Given the description of an element on the screen output the (x, y) to click on. 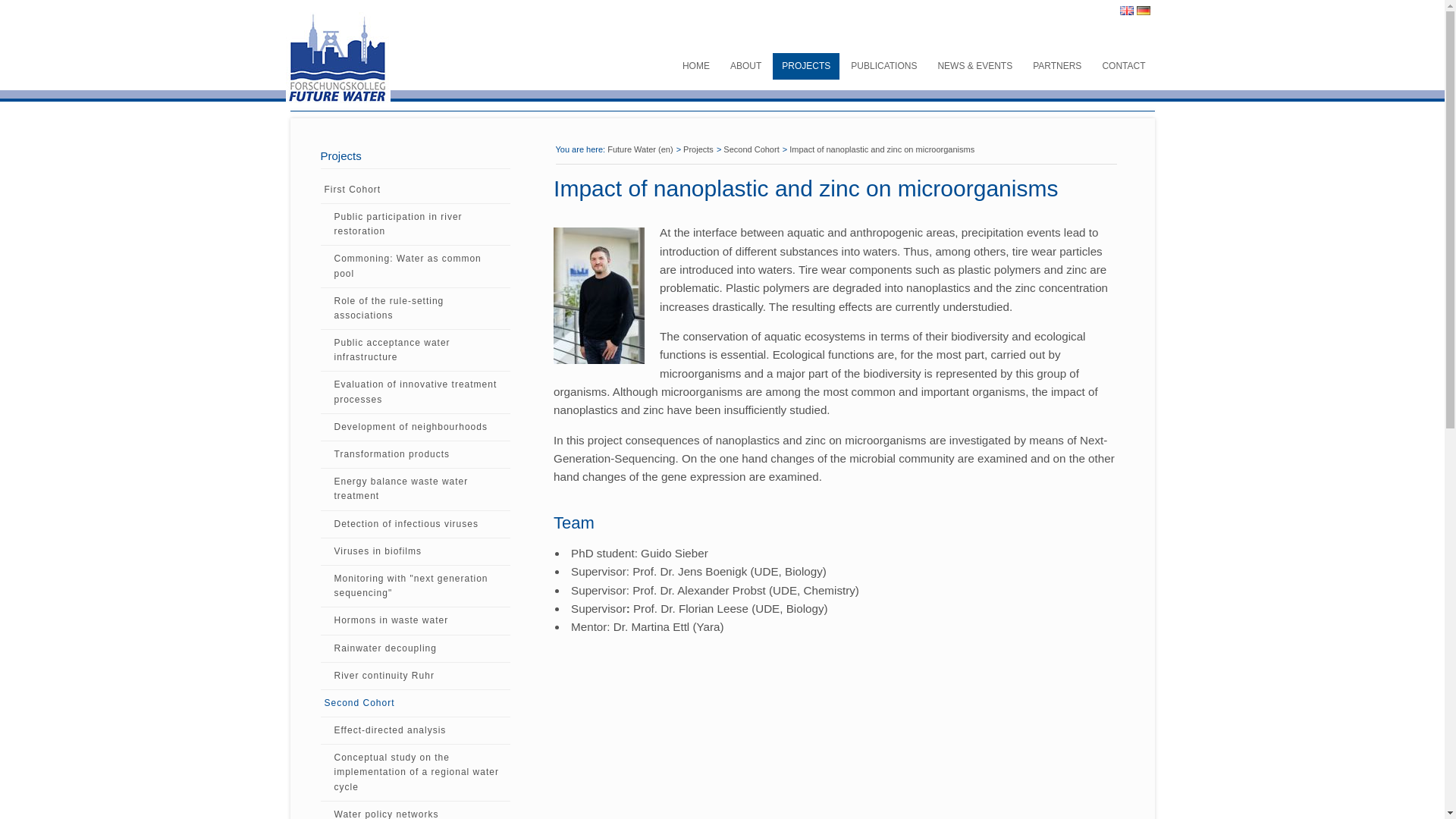
SKIP NAVIGATION (678, 58)
Welcome (695, 66)
deutsch (1142, 10)
english (1125, 10)
ABOUT (745, 66)
About Future Water (745, 66)
Home (378, 57)
HOME (695, 66)
Auswirkungen von Nanoplastik und Zink auf Mikroorganismen (1142, 11)
Project Overview (806, 66)
